Given the description of an element on the screen output the (x, y) to click on. 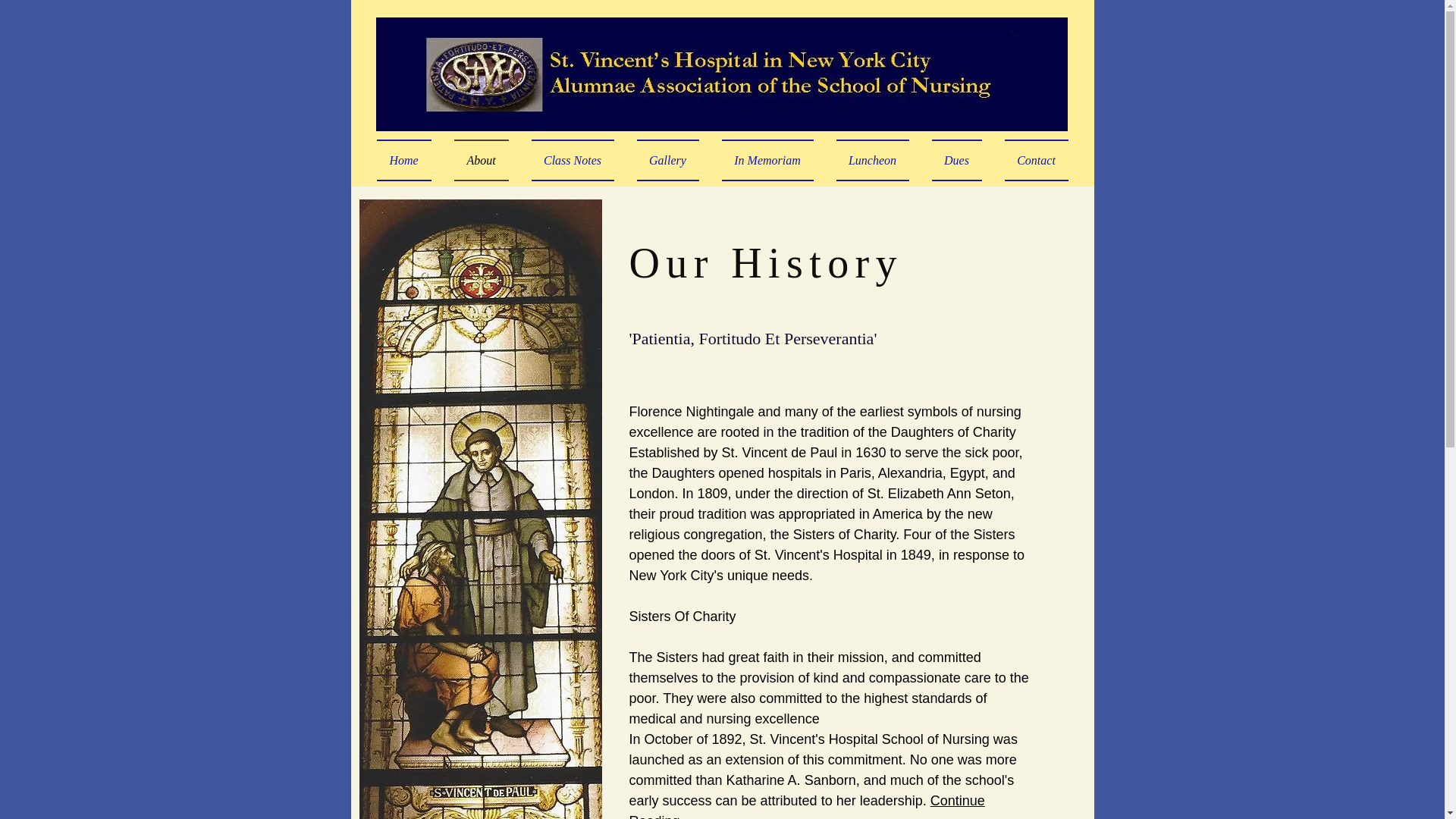
In Memoriam (767, 159)
About (480, 159)
Contact (1030, 159)
Class Notes (572, 159)
Dues (956, 159)
Home (408, 159)
Gallery (667, 159)
Luncheon (872, 159)
Continue Reading... (806, 806)
